Given the description of an element on the screen output the (x, y) to click on. 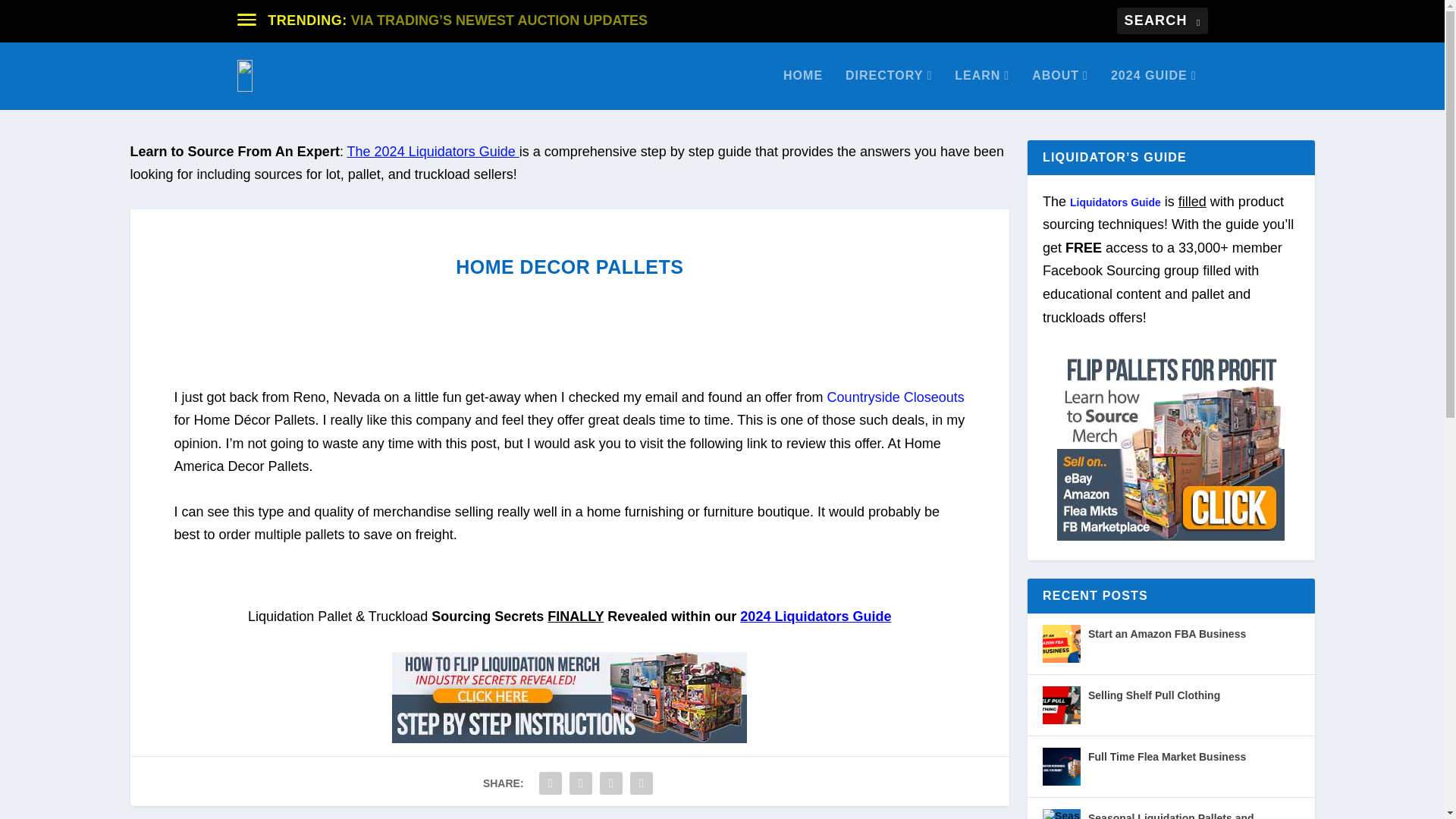
DIRECTORY (888, 89)
ABOUT (1059, 89)
Countryside Closeouts (895, 396)
2024 Liquidators Guide (815, 616)
LEARN (982, 89)
Selling Shelf Pull Clothing (1061, 704)
The 2024 Liquidators Guide (433, 151)
Full Time Flea Market Business (1061, 766)
Share "Home Decor Pallets" via Facebook (550, 783)
Start an Amazon FBA Business (1061, 643)
